Given the description of an element on the screen output the (x, y) to click on. 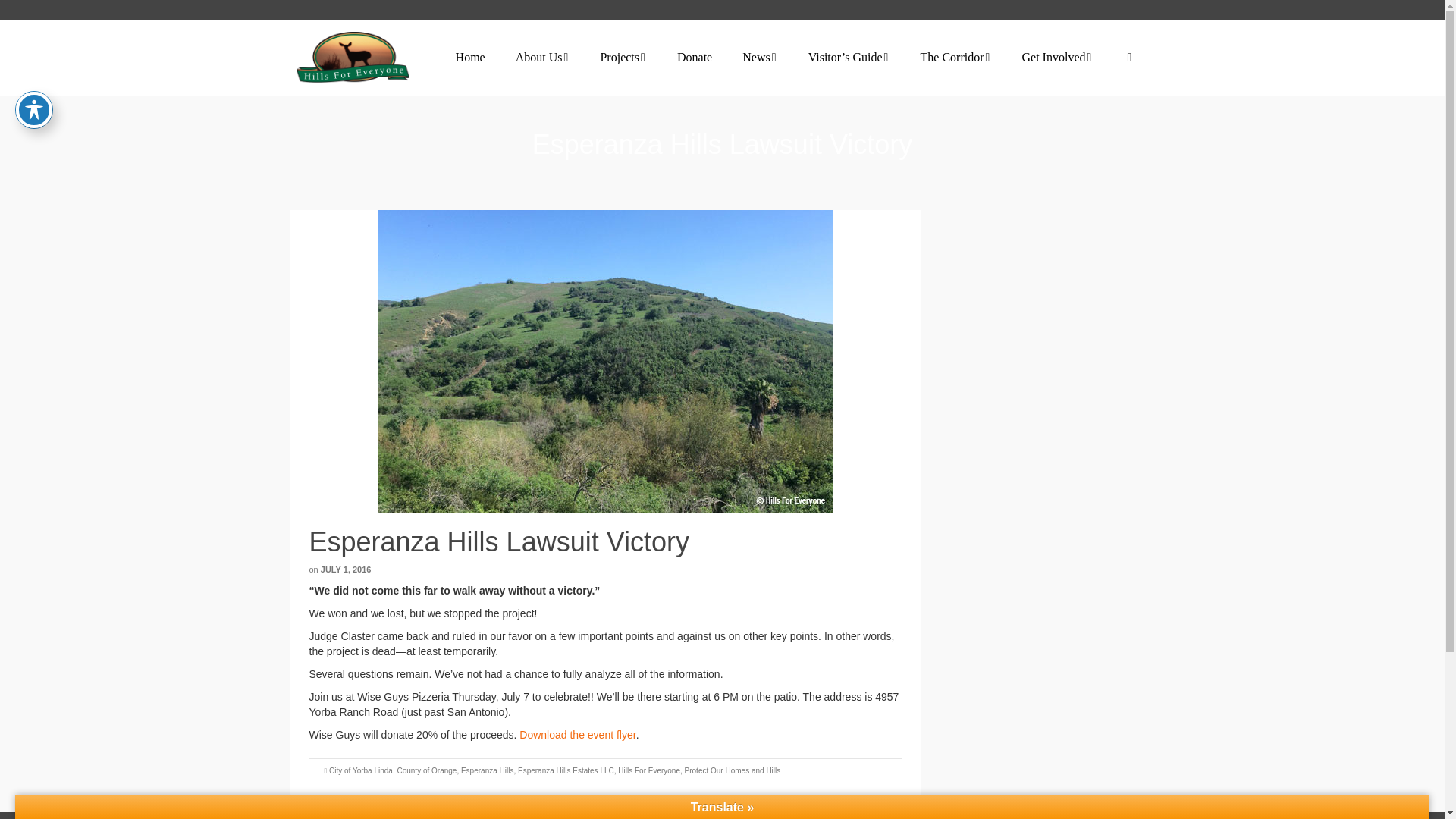
About Us (542, 57)
Projects (623, 57)
